Given the description of an element on the screen output the (x, y) to click on. 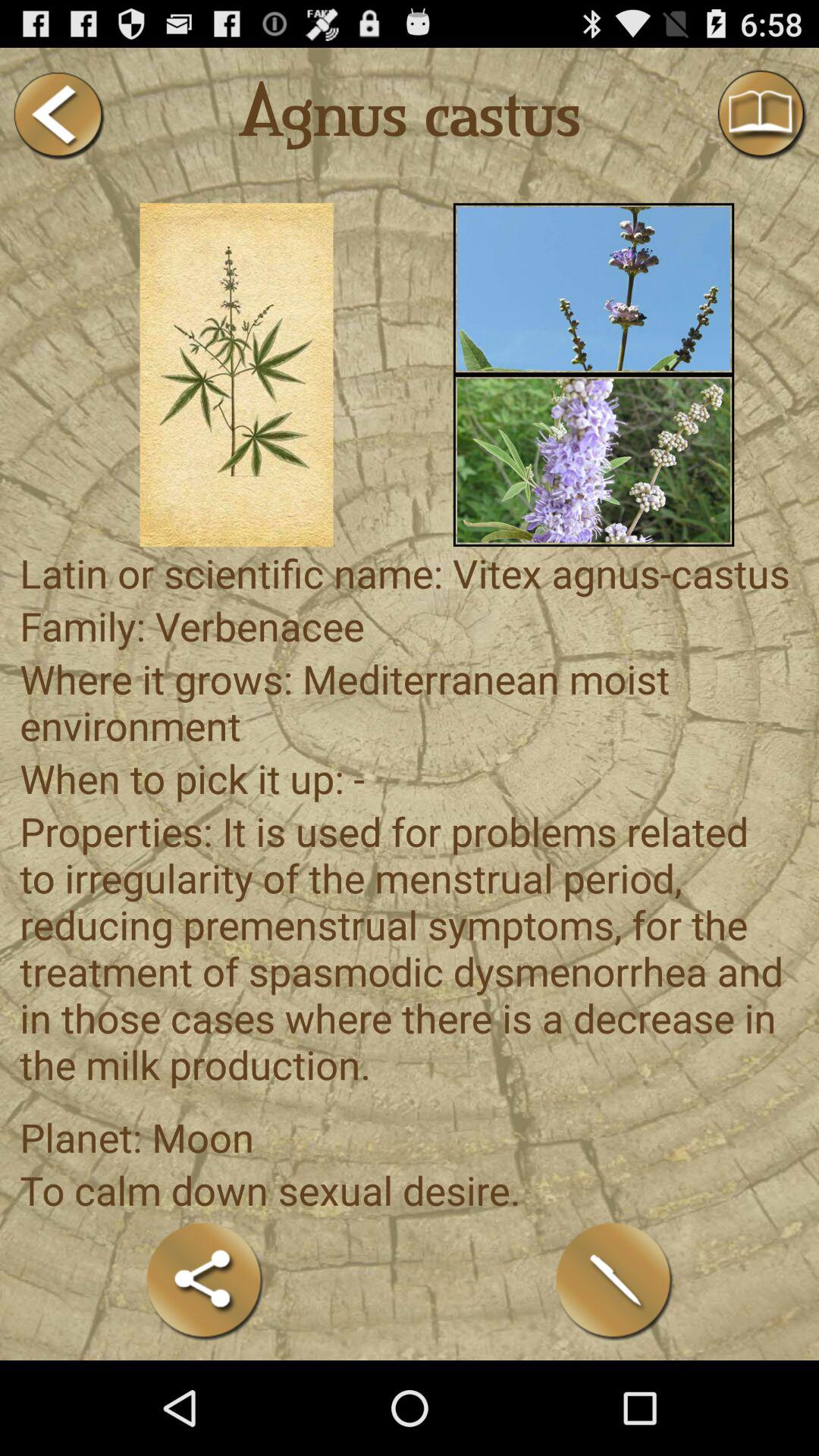
zoom in picture (236, 374)
